Given the description of an element on the screen output the (x, y) to click on. 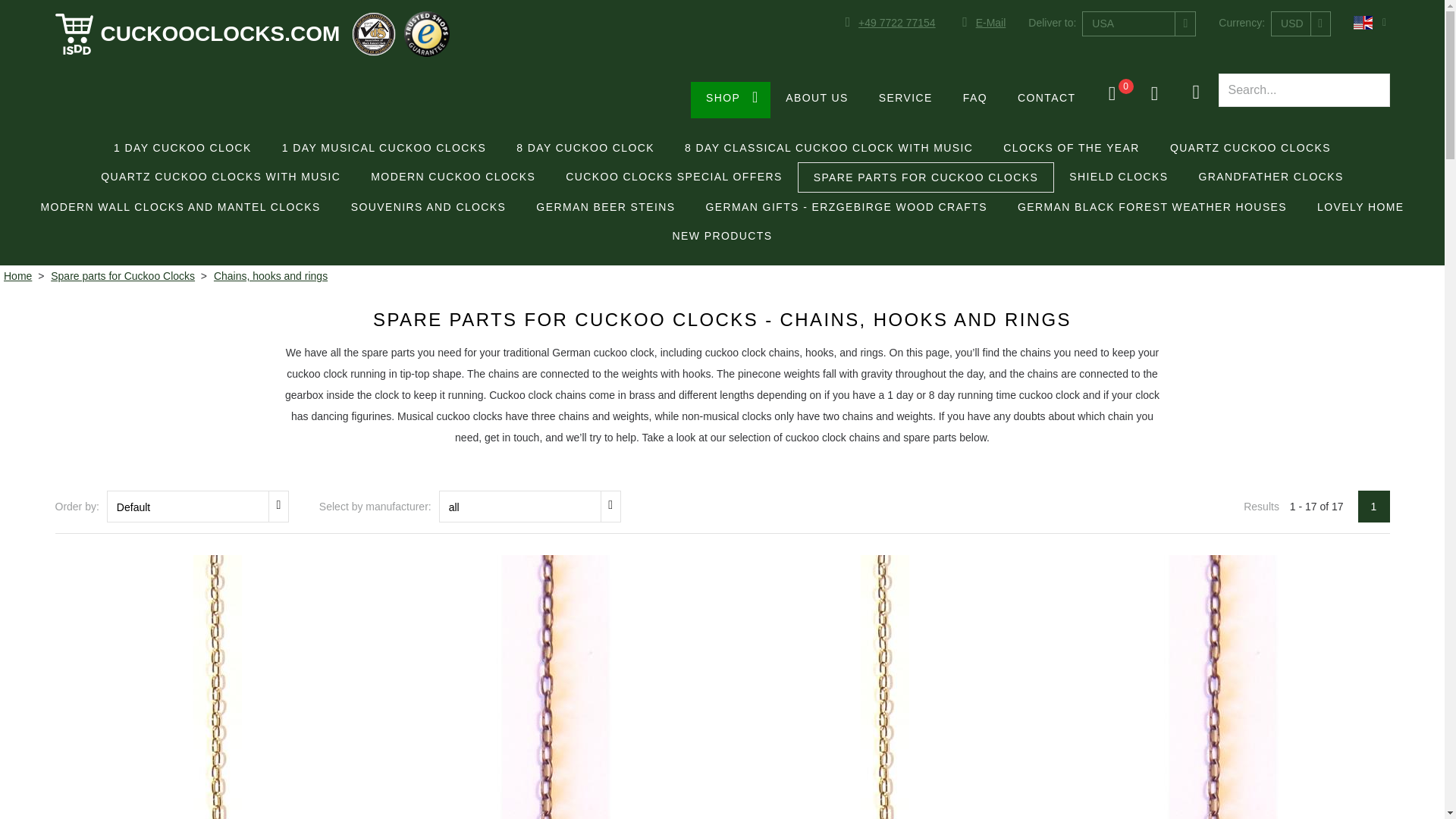
CUCKOOCLOCKS.COM (197, 34)
USD (1300, 23)
E-Mail (982, 22)
SHOP (730, 99)
USA (1139, 24)
all (530, 506)
